Given the description of an element on the screen output the (x, y) to click on. 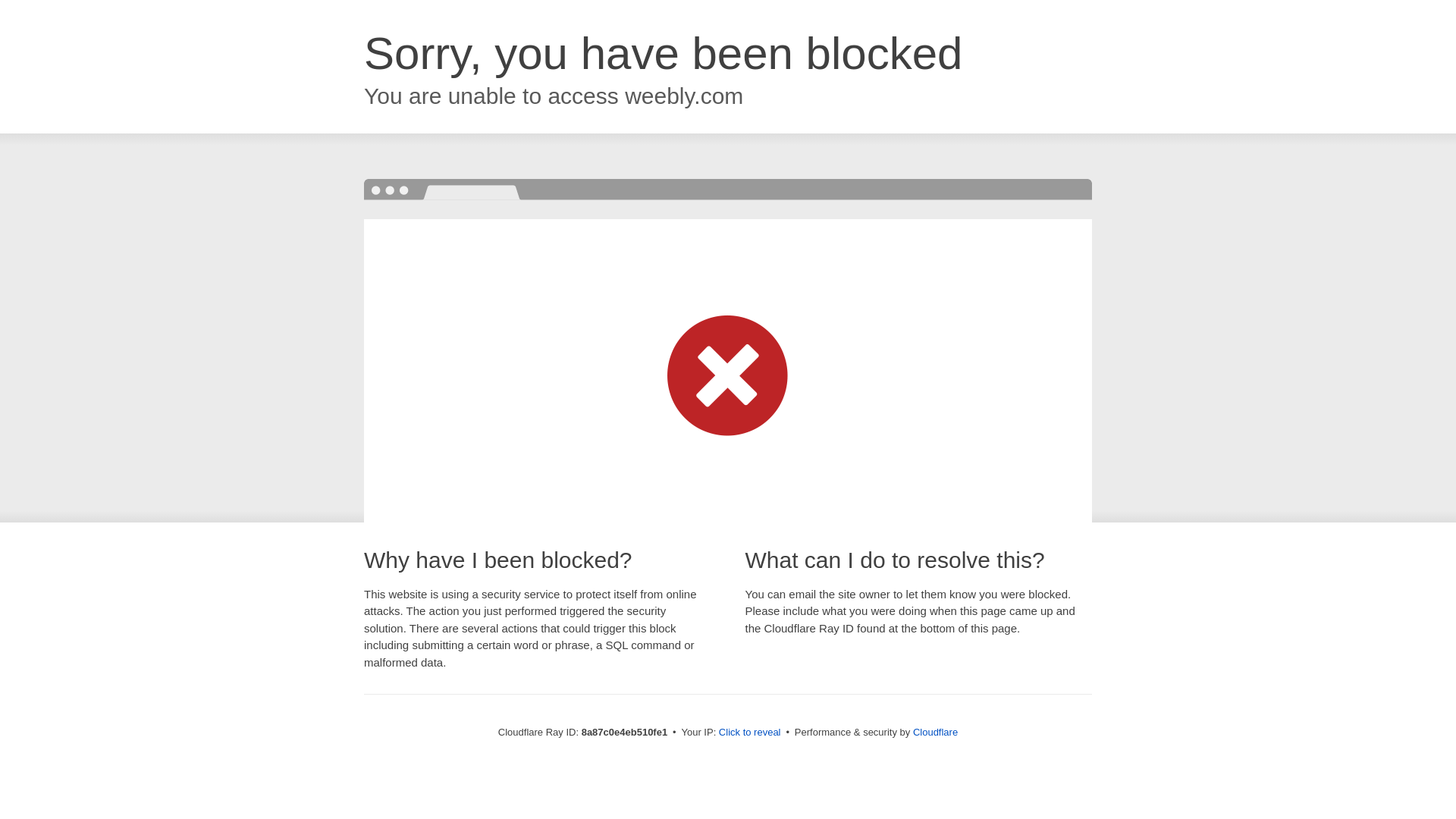
Cloudflare (935, 731)
Click to reveal (749, 732)
